Given the description of an element on the screen output the (x, y) to click on. 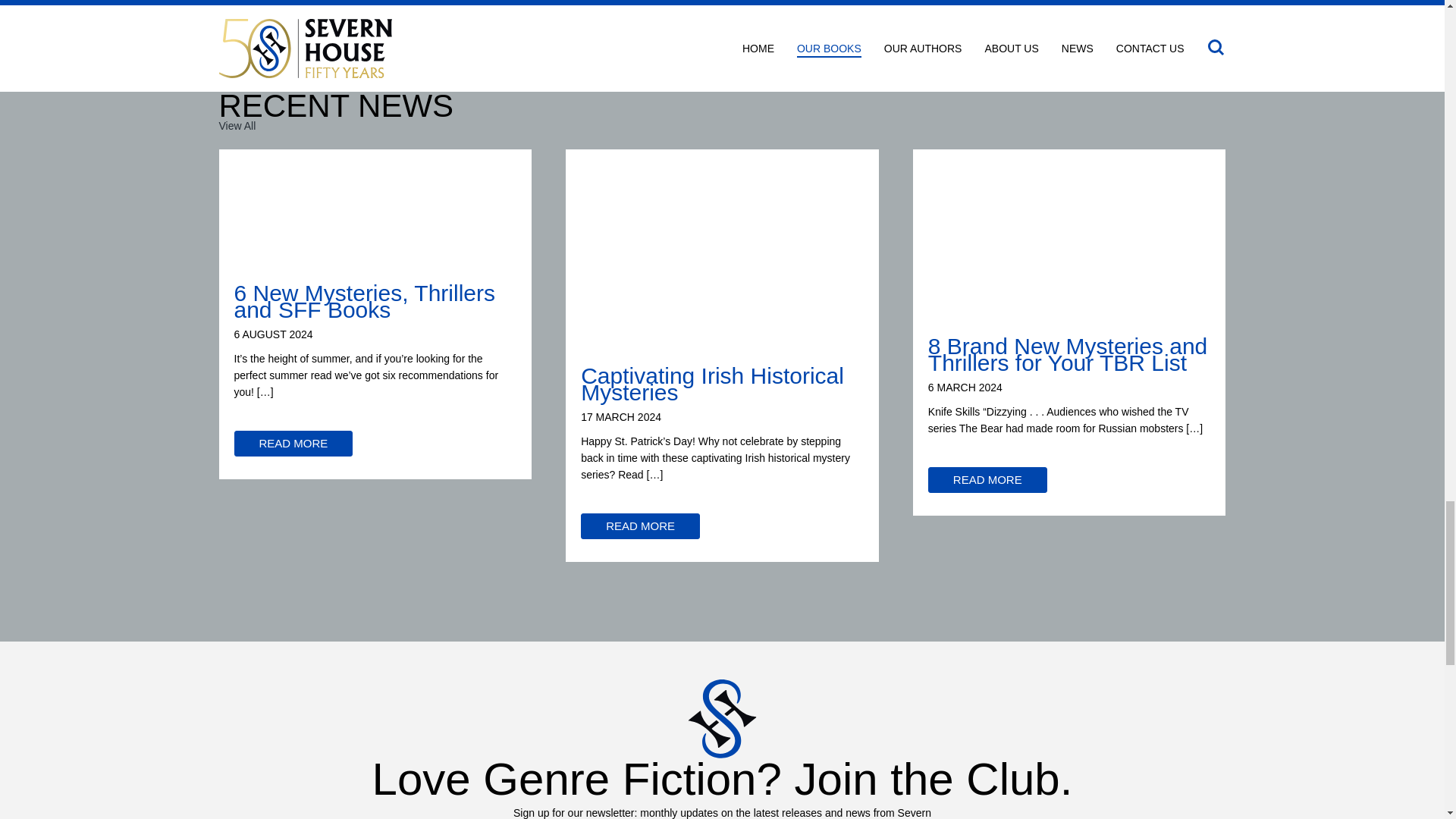
View All (237, 127)
marchpubscover (312, 7)
August Pubs2 (1069, 243)
stpatricksday (374, 217)
